Given the description of an element on the screen output the (x, y) to click on. 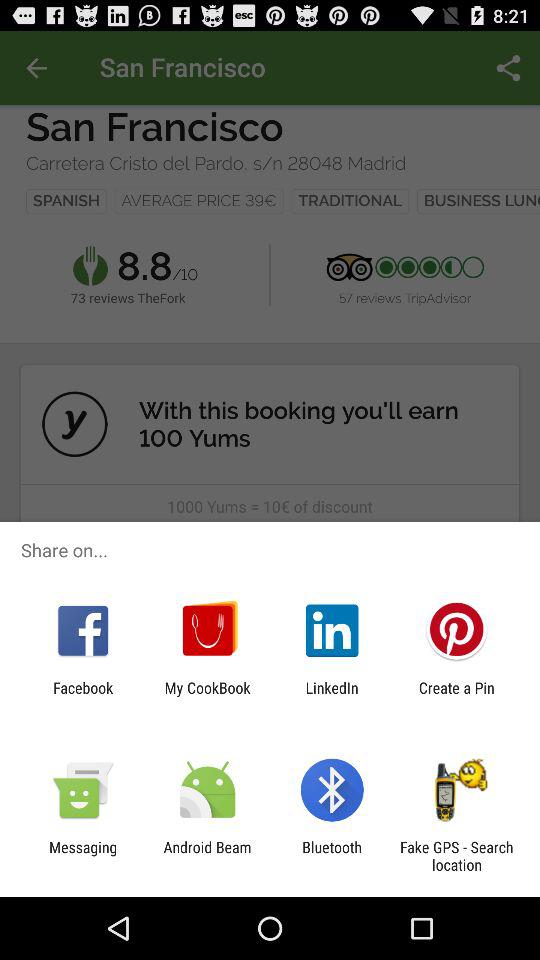
turn on item next to create a pin (331, 696)
